Given the description of an element on the screen output the (x, y) to click on. 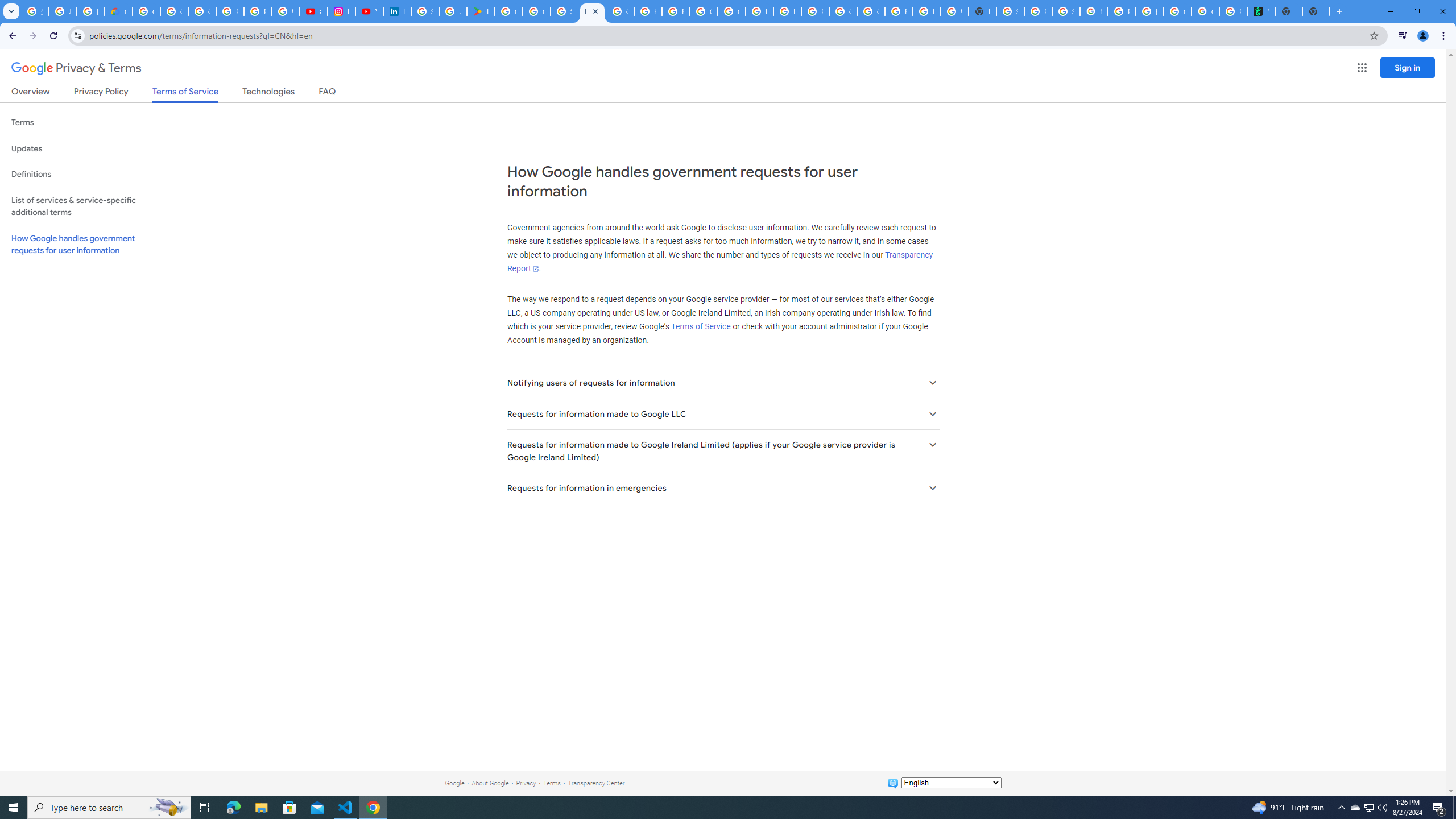
Google Cloud Platform (842, 11)
New Tab (1316, 11)
Requests for information made to Google LLC (722, 413)
Change language: (951, 782)
